Given the description of an element on the screen output the (x, y) to click on. 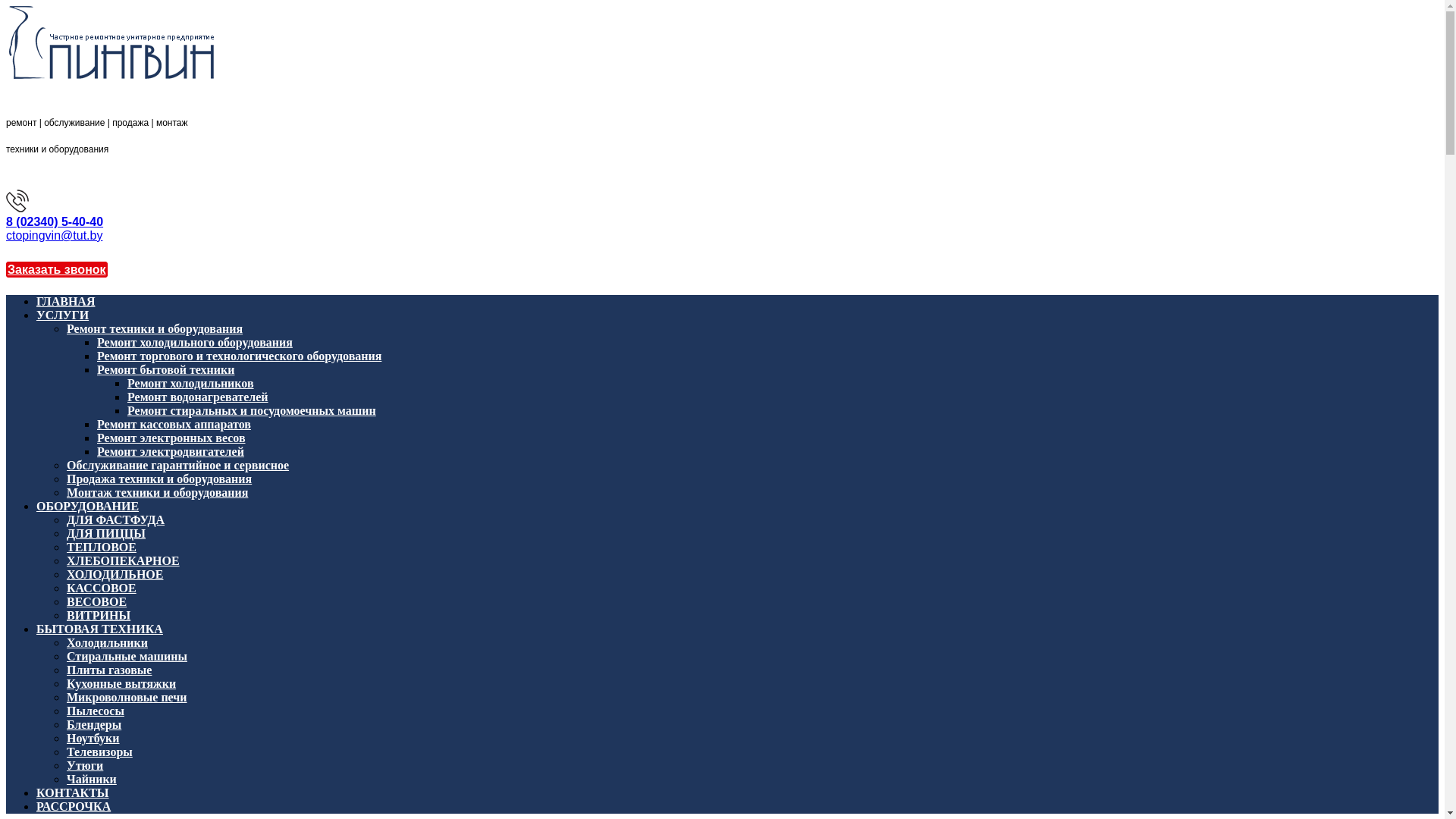
ctopingvin@tut.by Element type: text (54, 235)
8 (02340) 5-40-40 Element type: text (54, 221)
